Given the description of an element on the screen output the (x, y) to click on. 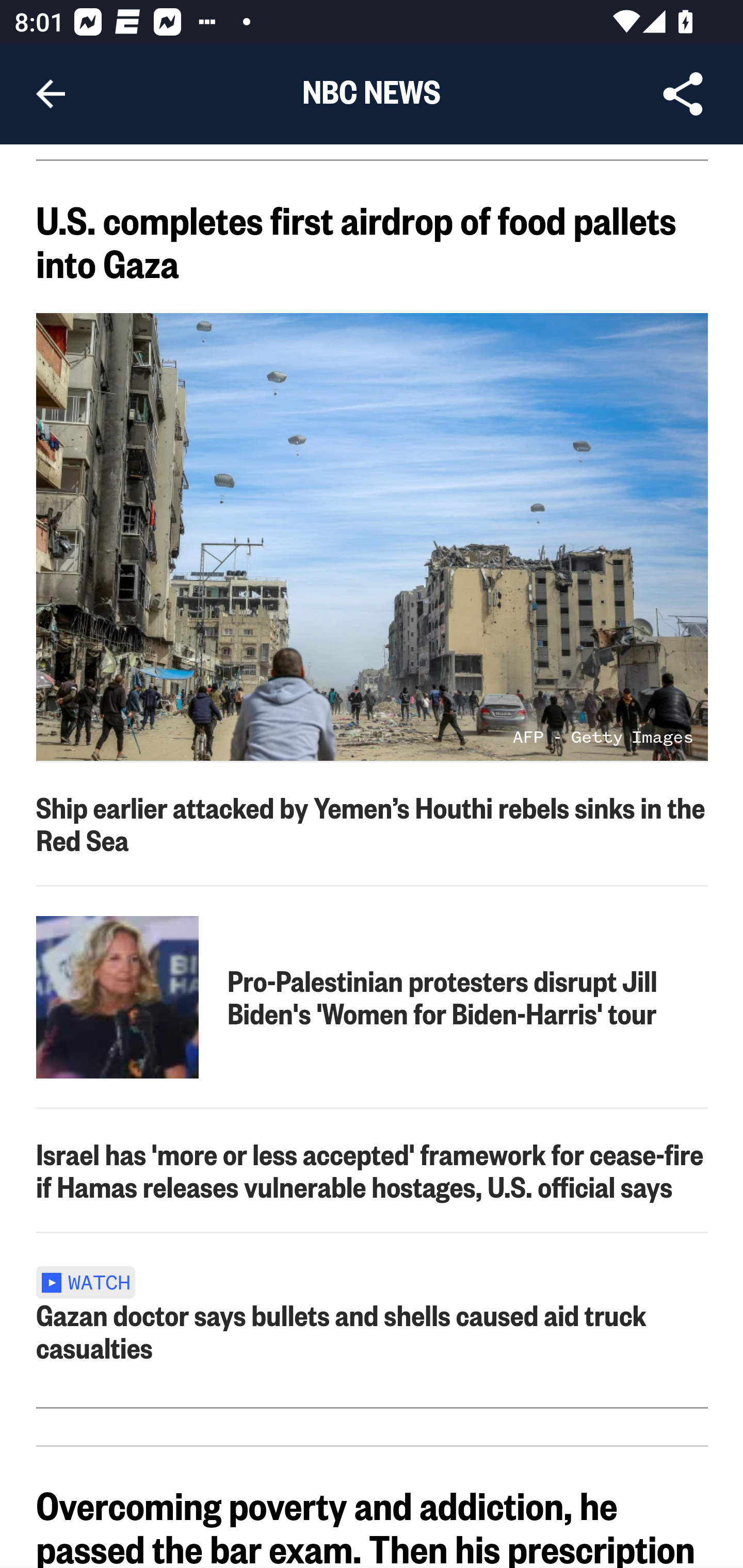
Navigate up (50, 93)
Share Article, button (683, 94)
WATCH WATCH WATCH WATCH (91, 1280)
